Given the description of an element on the screen output the (x, y) to click on. 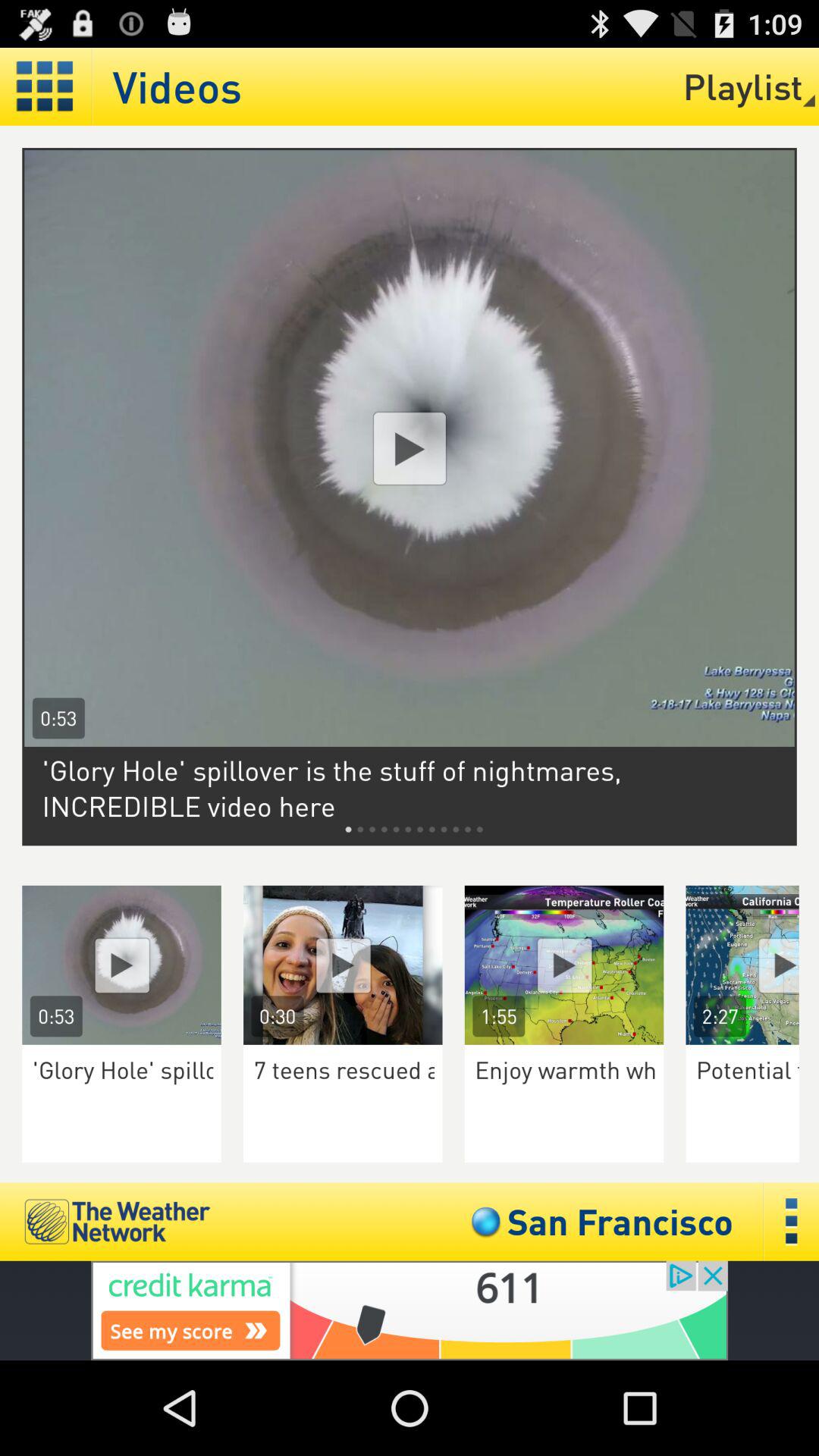
selecting the potential video (752, 964)
